Given the description of an element on the screen output the (x, y) to click on. 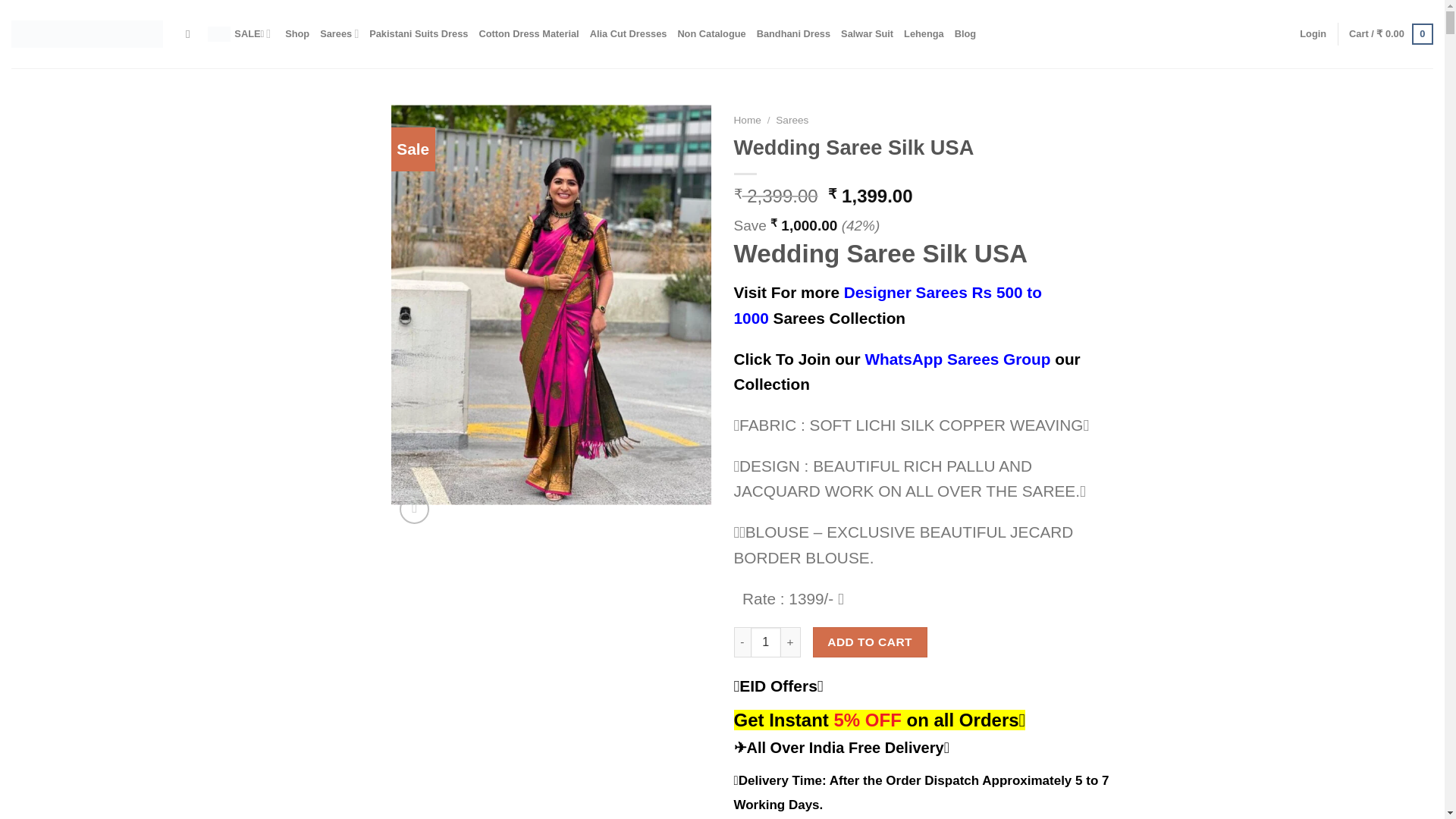
Home (747, 120)
Zoom (413, 509)
Shop (296, 33)
Login (1313, 33)
Non Catalogue (711, 33)
Salwar Suit (867, 33)
Alia Cut Dresses (627, 33)
1 (765, 642)
Lehenga (923, 33)
Pakistani Suits Dress (418, 33)
